Given the description of an element on the screen output the (x, y) to click on. 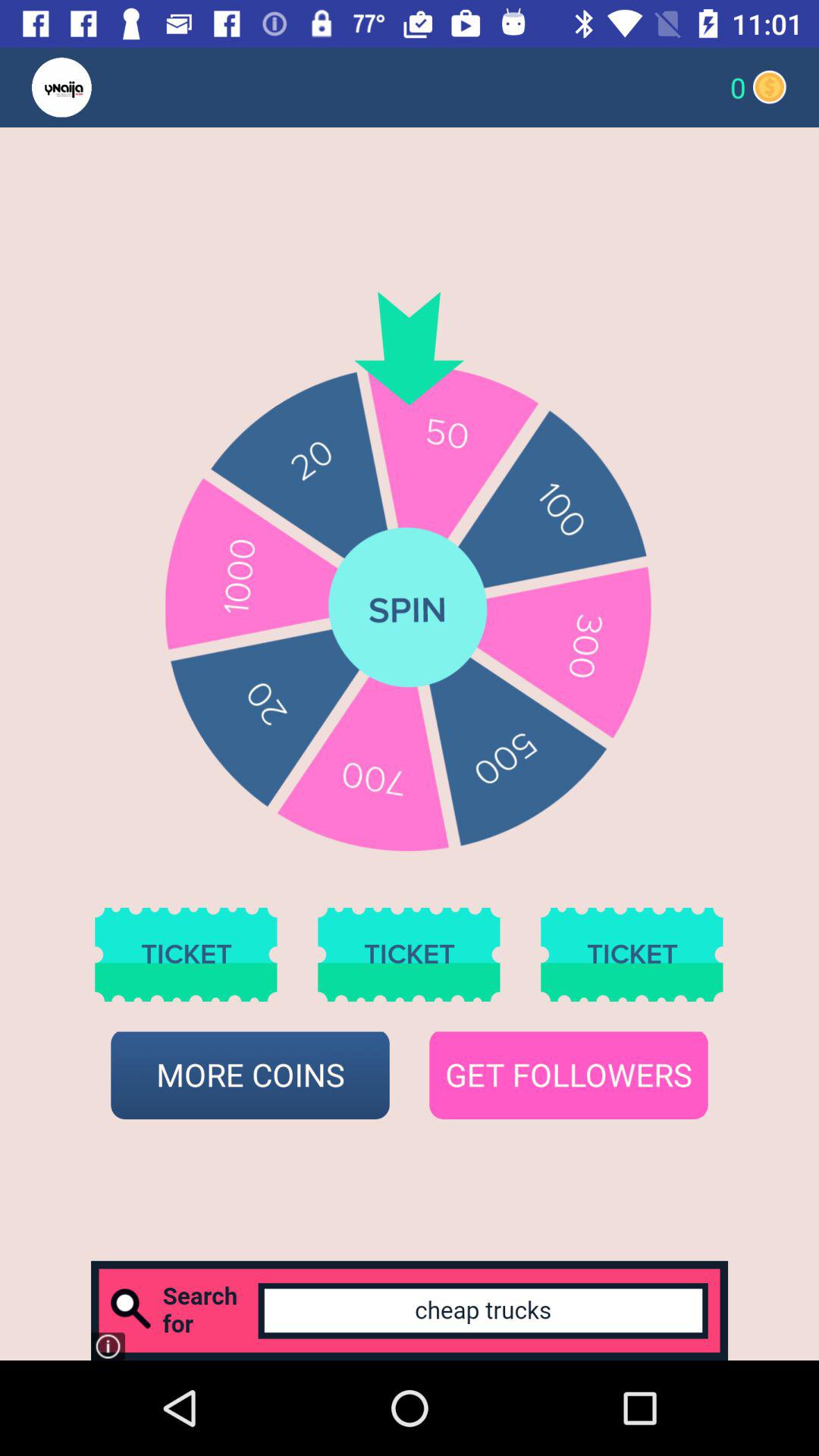
spin option (408, 609)
